Given the description of an element on the screen output the (x, y) to click on. 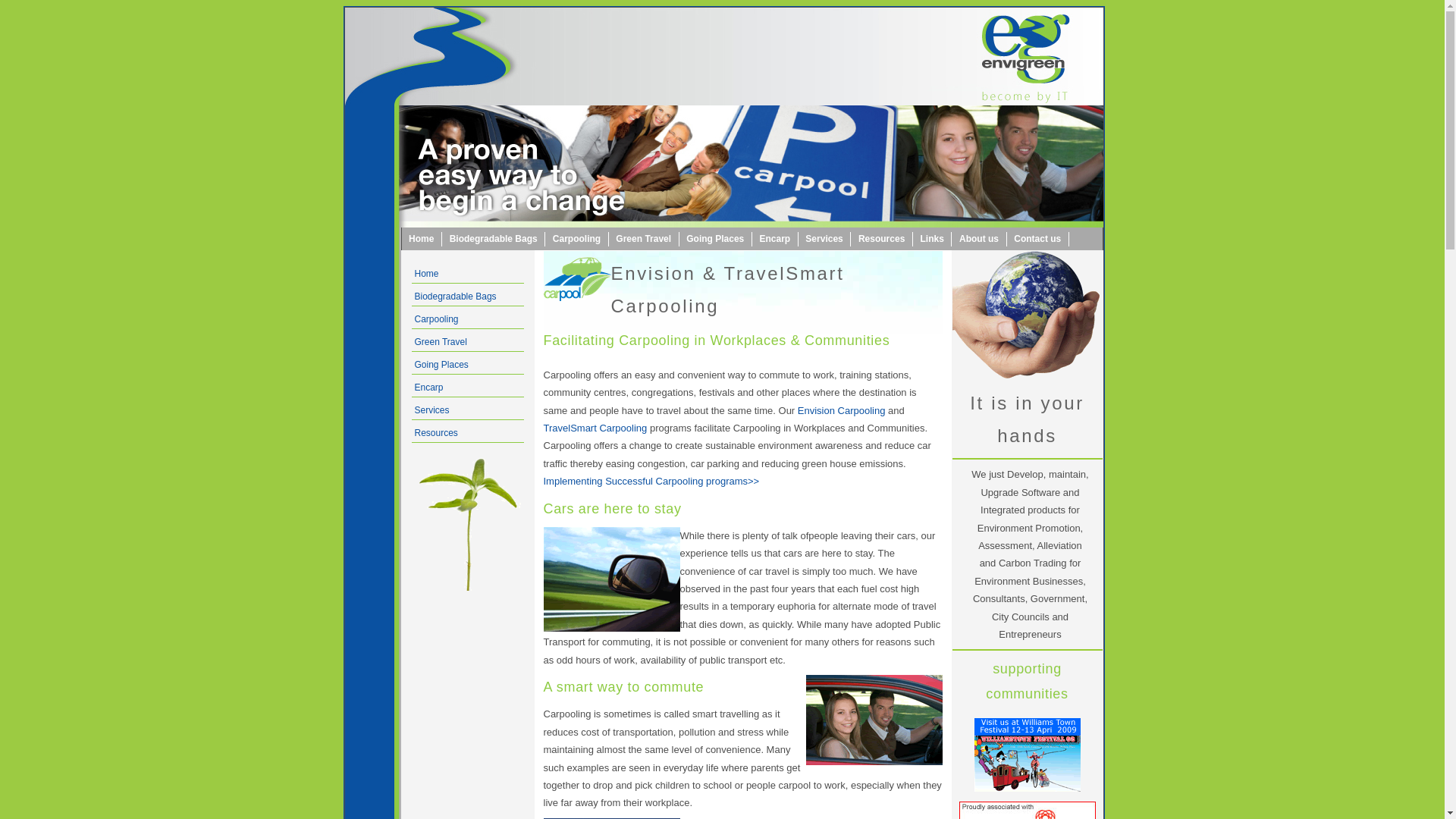
TravelSmart Carpooling Element type: text (594, 427)
Resources Element type: text (434, 432)
Contact us Element type: text (1038, 239)
Services Element type: text (824, 239)
Biodegradable Bags Element type: text (493, 239)
Home Element type: text (424, 273)
Resources Element type: text (881, 239)
Links Element type: text (932, 239)
Carpooling Element type: text (434, 318)
Services Element type: text (429, 409)
Green Travel Element type: text (643, 239)
Carpooling Element type: text (576, 239)
Implementing Successful Carpooling programs>> Element type: text (650, 480)
Green Travel Element type: text (438, 341)
Biodegradable Bags Element type: text (453, 296)
Encarp Element type: text (775, 239)
Envision Carpooling Element type: text (841, 410)
About us Element type: text (978, 239)
Home Element type: text (421, 239)
Going Places Element type: text (715, 239)
Going Places Element type: text (439, 364)
Encarp Element type: text (426, 387)
